Given the description of an element on the screen output the (x, y) to click on. 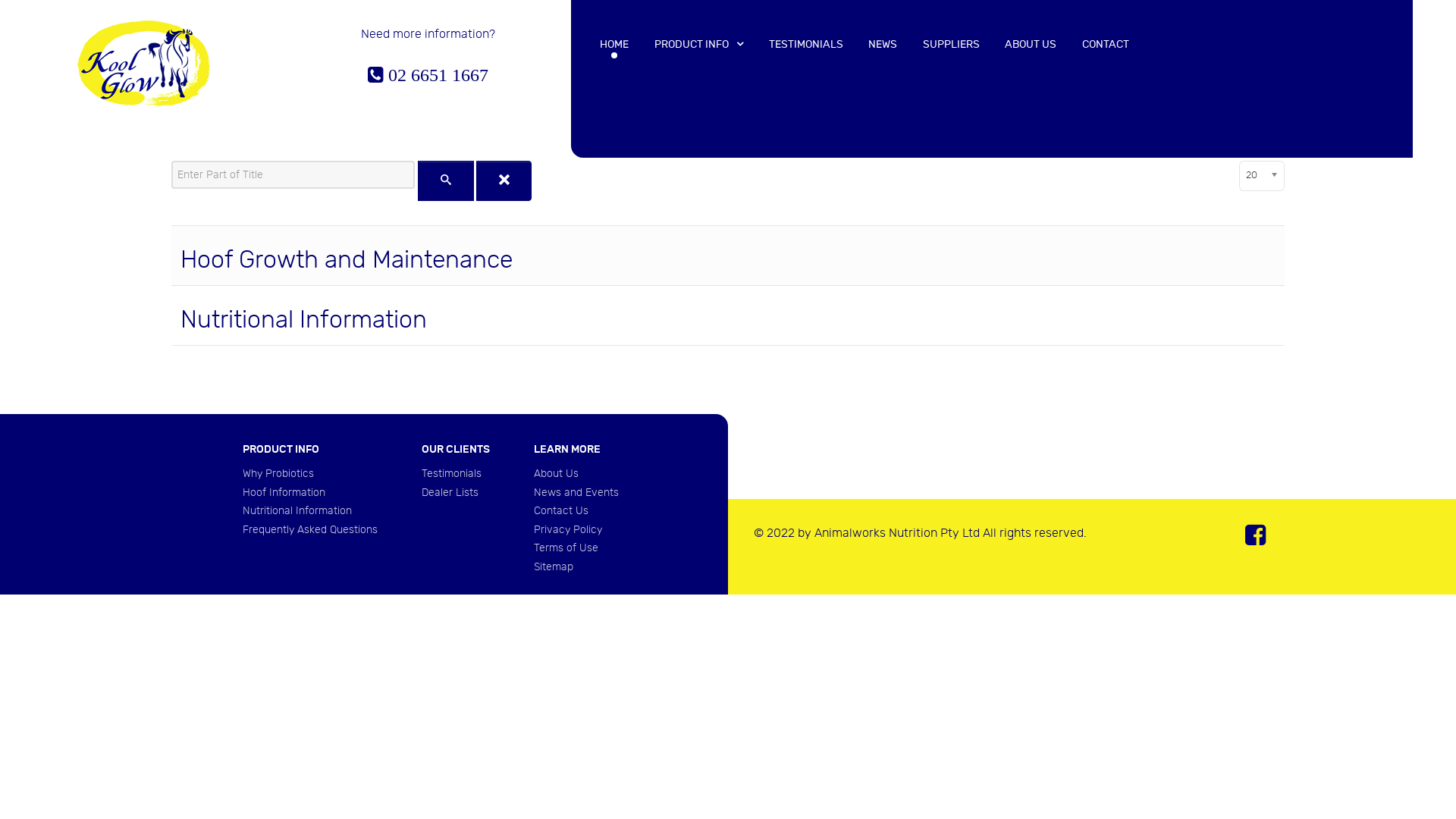
Hoof Growth and Maintenance Element type: text (346, 259)
Animalworks Nutrition Pty Ltd Element type: text (896, 533)
TESTIMONIALS Element type: text (805, 44)
Testimonials Element type: text (451, 473)
Nutritional Information Element type: text (296, 510)
Search Element type: hover (445, 180)
Click here to buy Kool Glow ! Element type: hover (142, 61)
Contact Us Element type: text (560, 510)
About Us Element type: text (555, 473)
Need more information? Element type: text (427, 34)
SUPPLIERS Element type: text (951, 44)
CONTACT Element type: text (1105, 44)
Why Probiotics Element type: text (277, 473)
Enter all or part of the title to search for. Element type: hover (292, 174)
NEWS Element type: text (882, 44)
20 Element type: text (1261, 175)
Sitemap Element type: text (553, 566)
Frequently Asked Questions Element type: text (309, 529)
Terms of Use Element type: text (565, 547)
Dealer Lists Element type: text (449, 492)
Privacy Policy Element type: text (567, 529)
Hoof Information Element type: text (283, 492)
HOME Element type: text (614, 44)
News and Events Element type: text (575, 492)
ABOUT US Element type: text (1031, 44)
02 6651 1667 Element type: text (427, 75)
Nutritional Information Element type: text (303, 319)
Clear Element type: hover (504, 180)
